Given the description of an element on the screen output the (x, y) to click on. 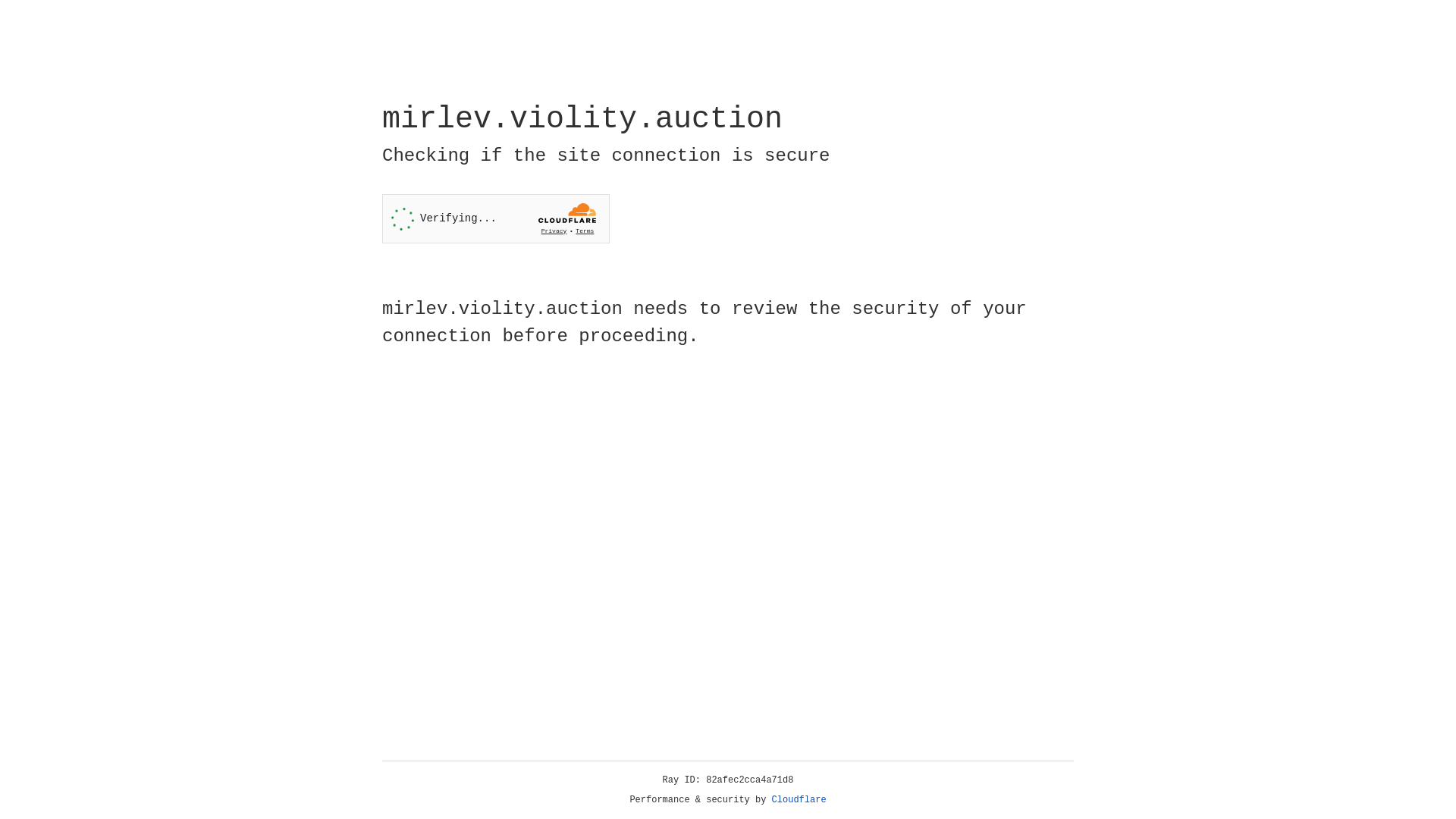
Cloudflare Element type: text (798, 799)
Widget containing a Cloudflare security challenge Element type: hover (495, 218)
